Given the description of an element on the screen output the (x, y) to click on. 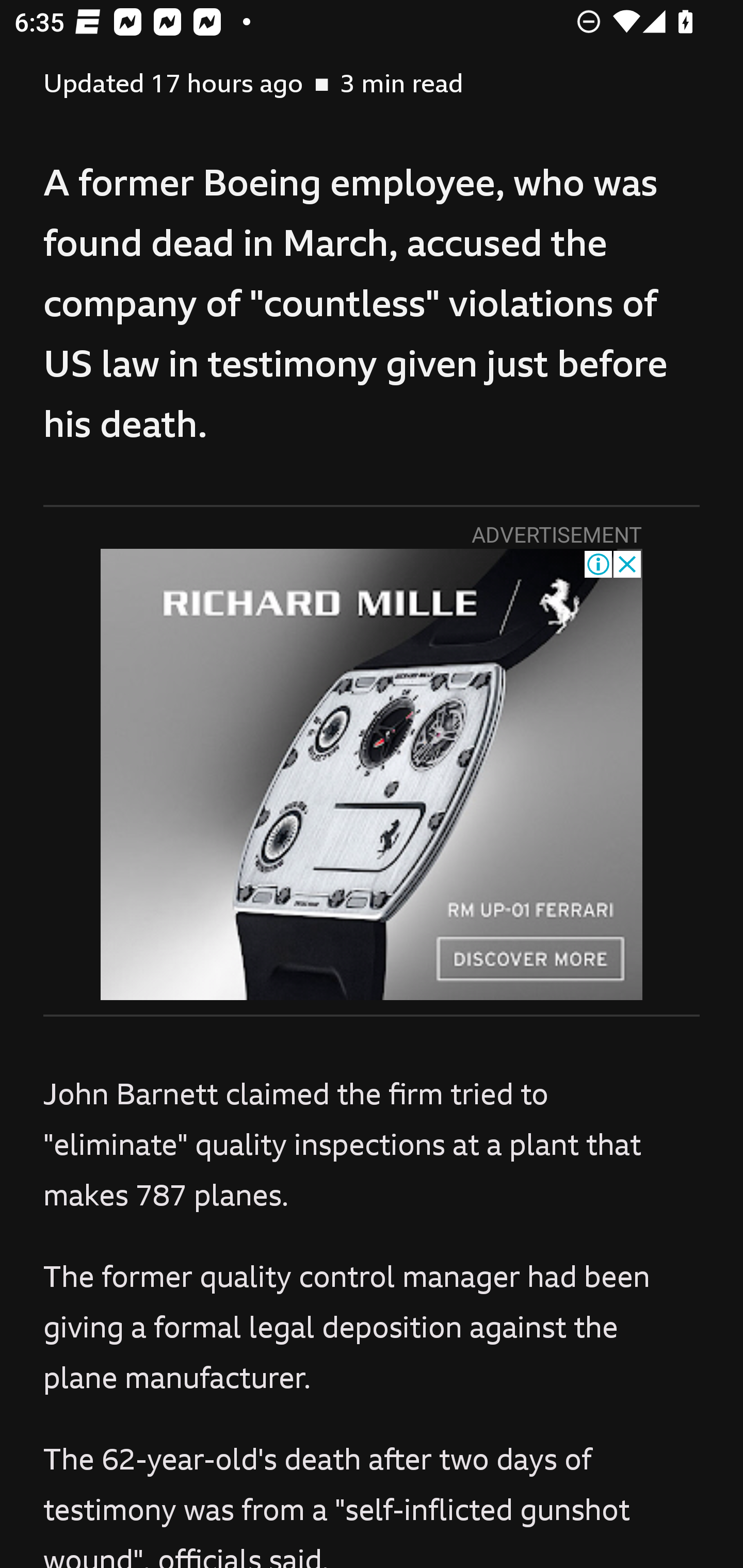
Advertisement (371, 774)
